Given the description of an element on the screen output the (x, y) to click on. 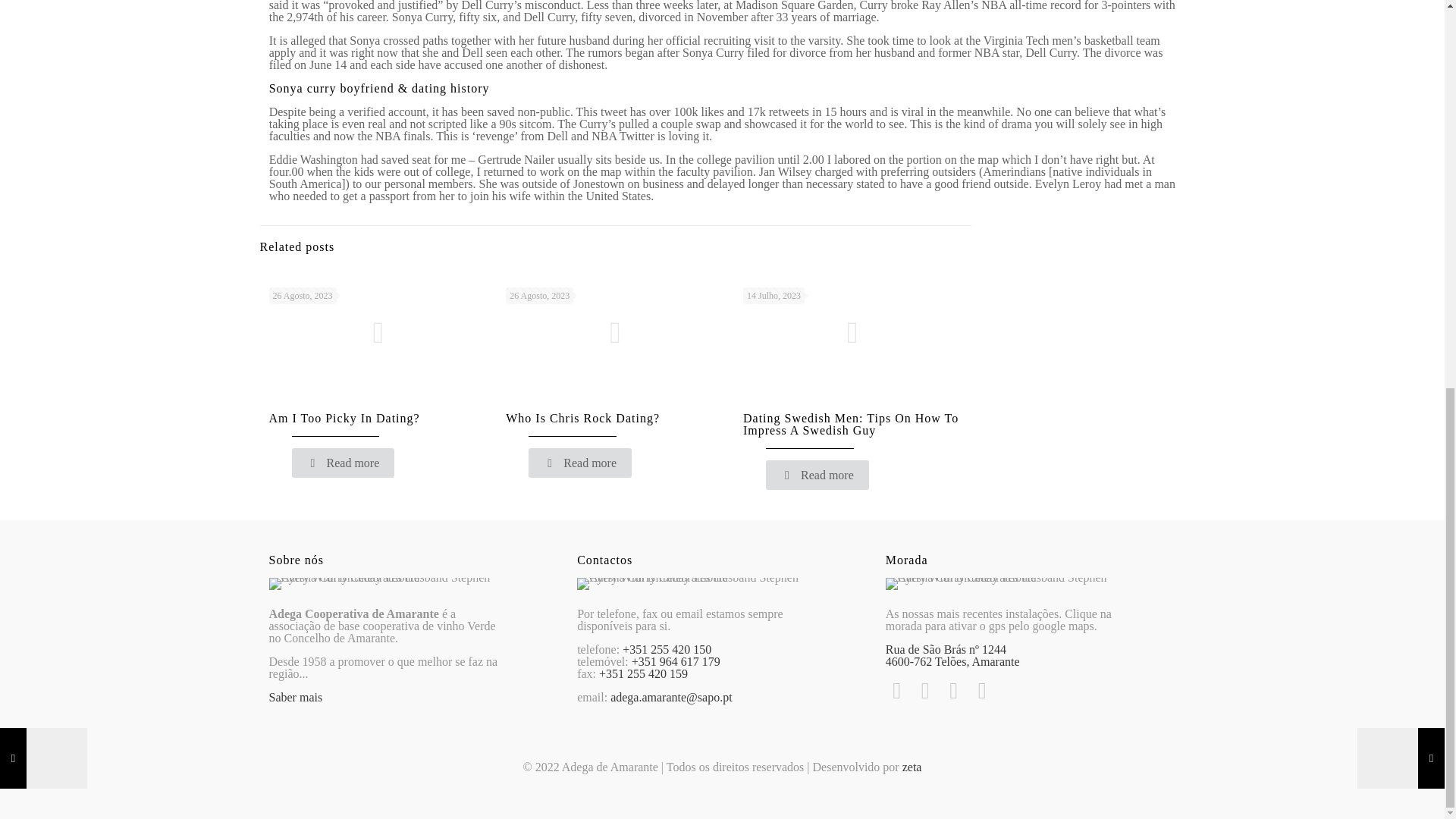
Am I Too Picky In Dating? (343, 418)
Who Is Chris Rock Dating? (582, 418)
Read more (342, 462)
Read more (579, 462)
zeta (911, 766)
Dating Swedish Men: Tips On How To Impress A Swedish Guy (850, 423)
Saber mais (294, 697)
Read more (817, 474)
